Given the description of an element on the screen output the (x, y) to click on. 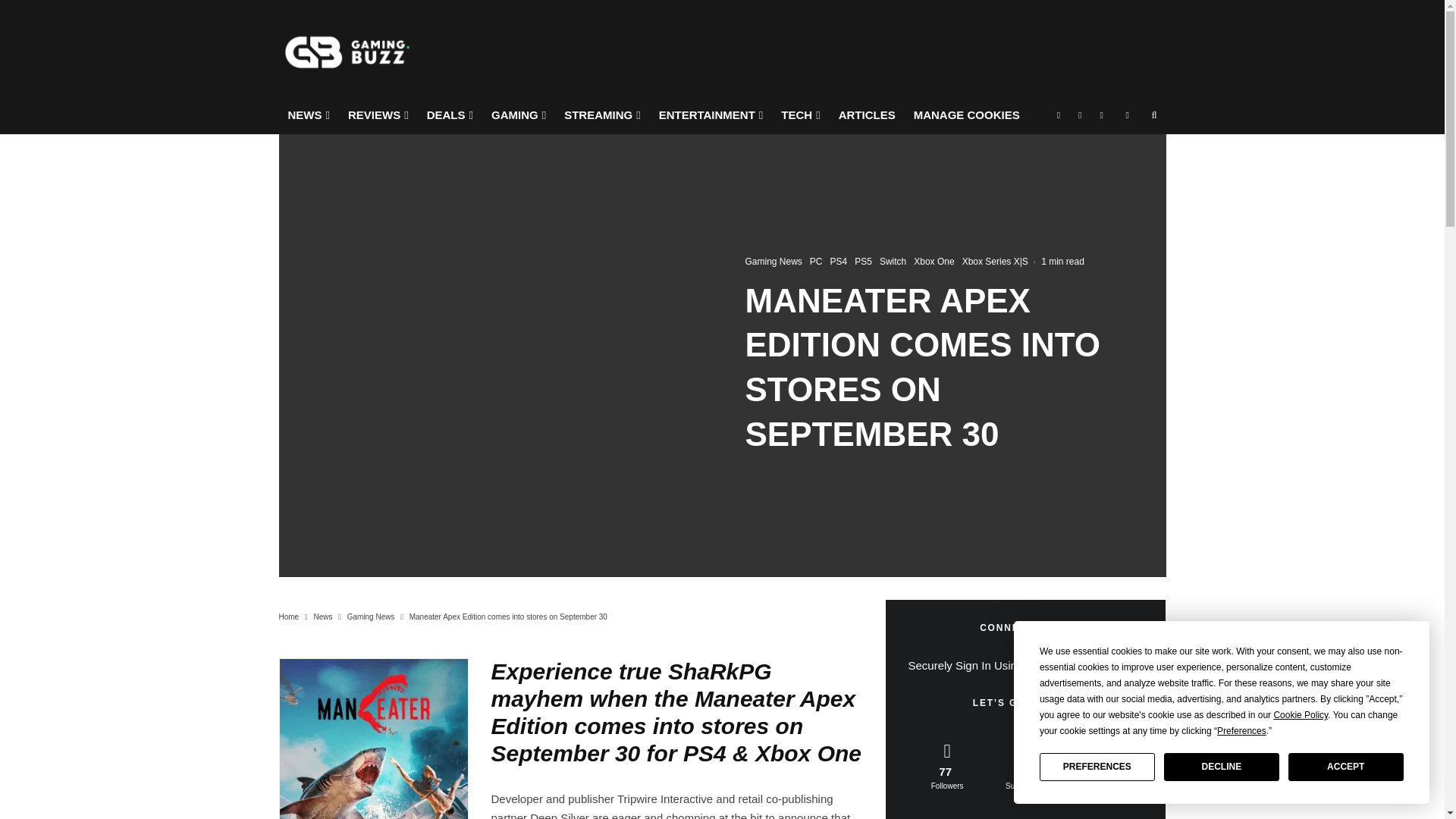
NEWS (309, 115)
ACCEPT (1345, 766)
PREFERENCES (1096, 766)
DECLINE (1221, 766)
REVIEWS (378, 115)
DEALS (449, 115)
